Given the description of an element on the screen output the (x, y) to click on. 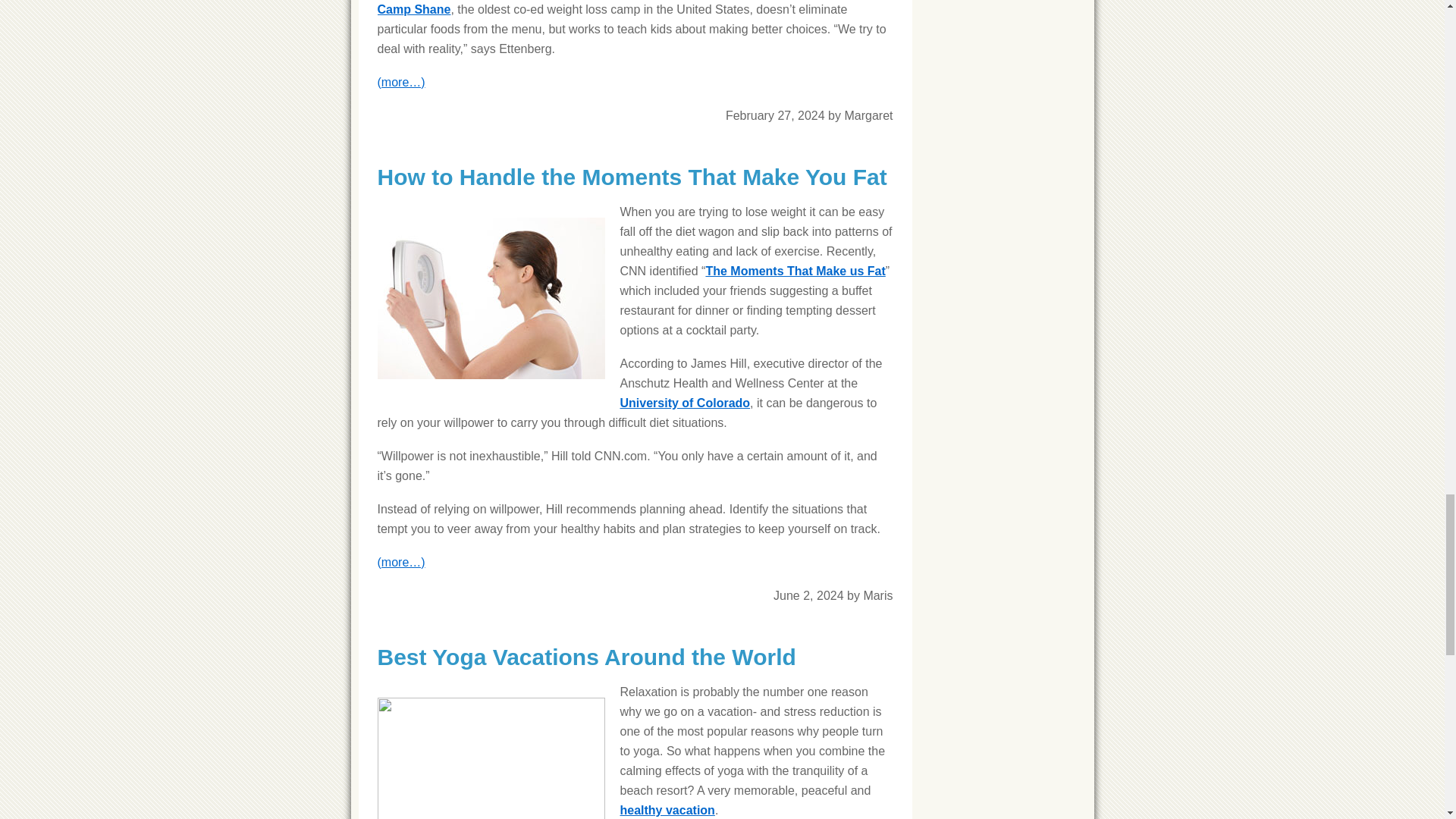
angry dieter (491, 298)
the moments that make us fat (794, 270)
Camp Shane (414, 9)
University of Colorado (685, 402)
